Given the description of an element on the screen output the (x, y) to click on. 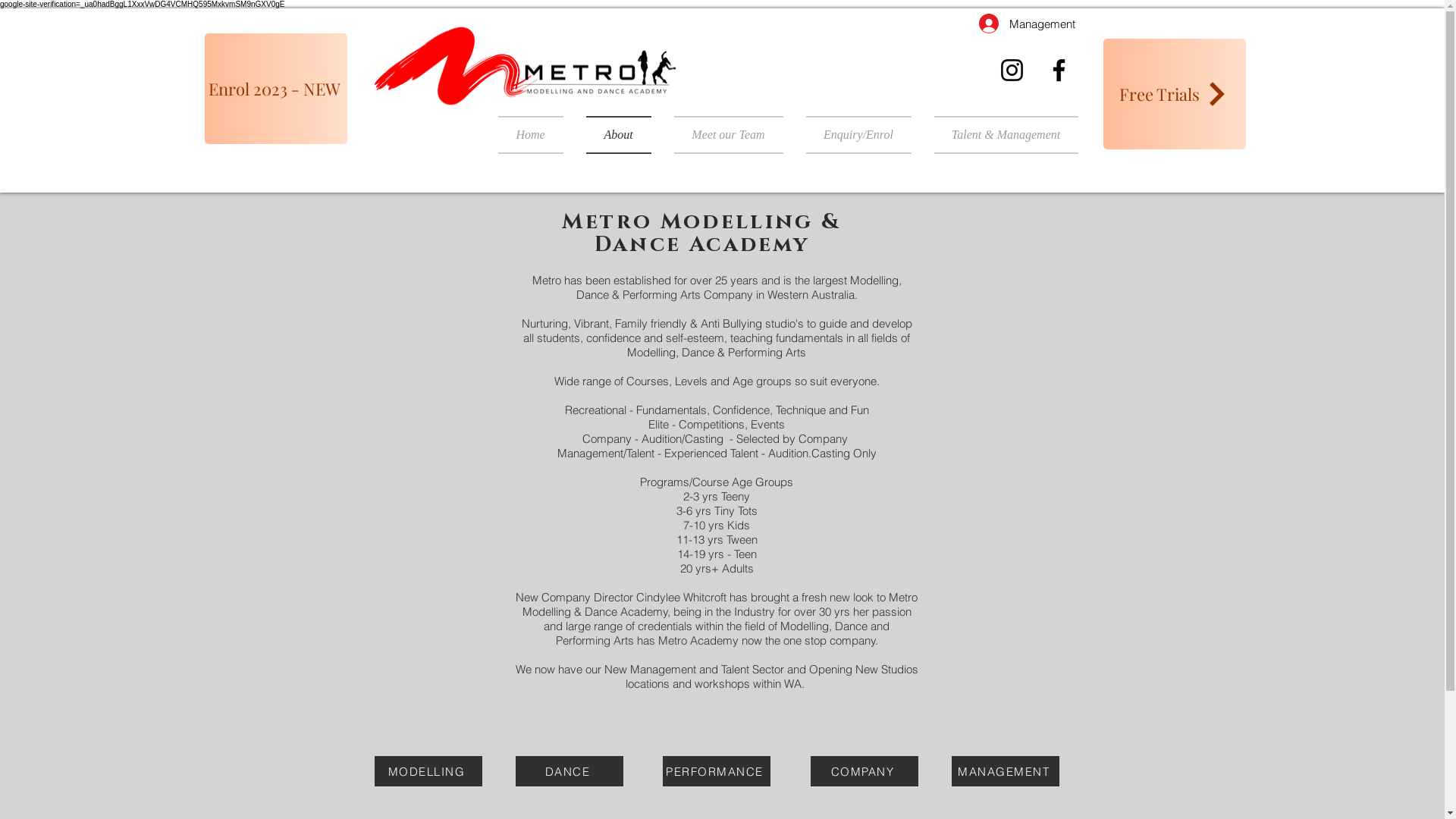
COMPANY Element type: text (863, 771)
Meet our Team Element type: text (728, 134)
Enquiry/Enrol Element type: text (858, 134)
MANAGEMENT Element type: text (1004, 771)
Enrol 2023 - NEW Element type: text (275, 88)
DANCE Element type: text (569, 771)
Management Element type: text (1026, 23)
Home Element type: text (535, 134)
PERFORMANCE Element type: text (716, 771)
Talent & Management Element type: text (999, 134)
MODELLING Element type: text (428, 771)
About Element type: text (618, 134)
Free Trials Element type: text (1173, 93)
